Given the description of an element on the screen output the (x, y) to click on. 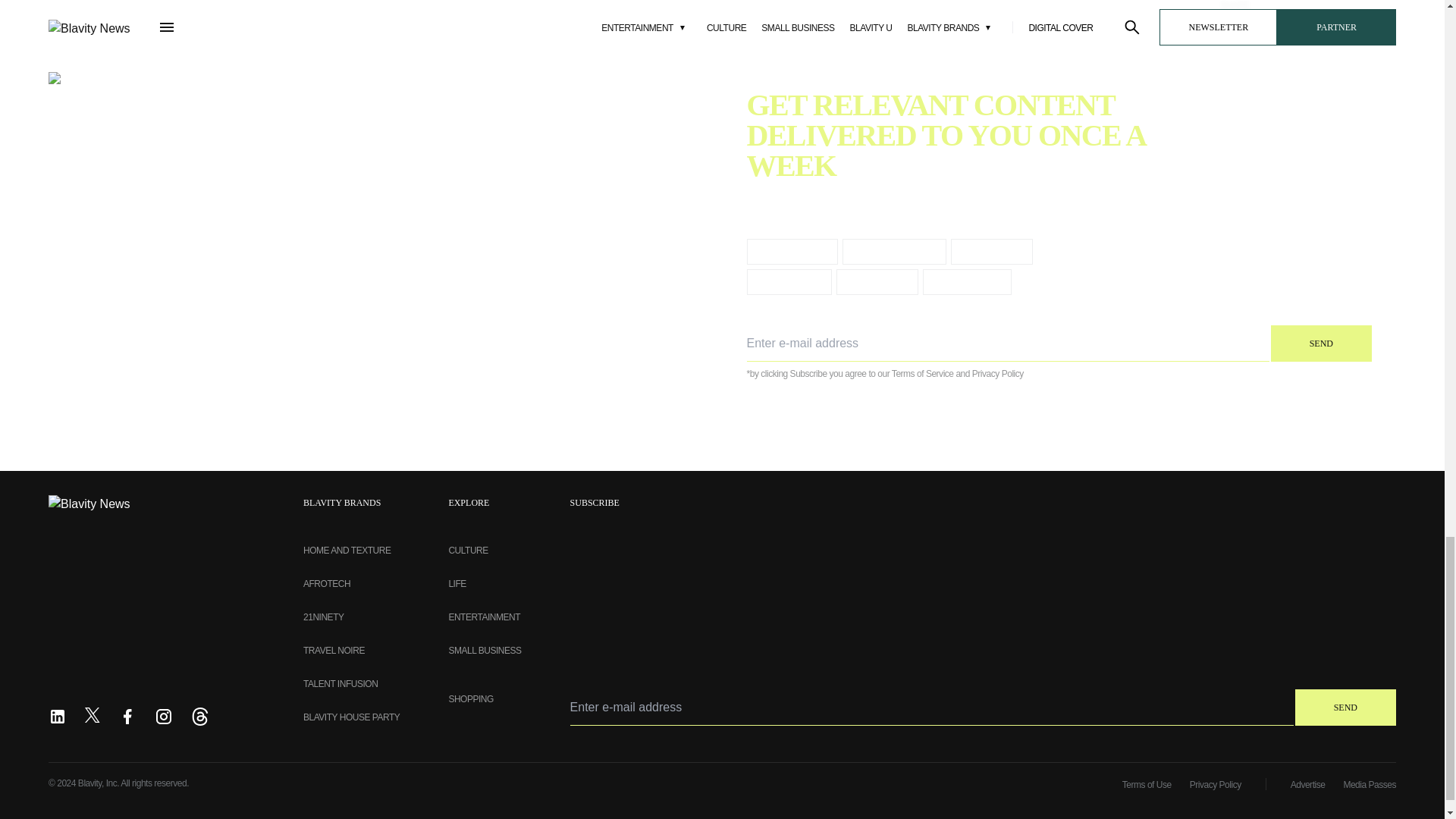
send (1345, 707)
send (1321, 343)
Blavity News logo (93, 502)
